Given the description of an element on the screen output the (x, y) to click on. 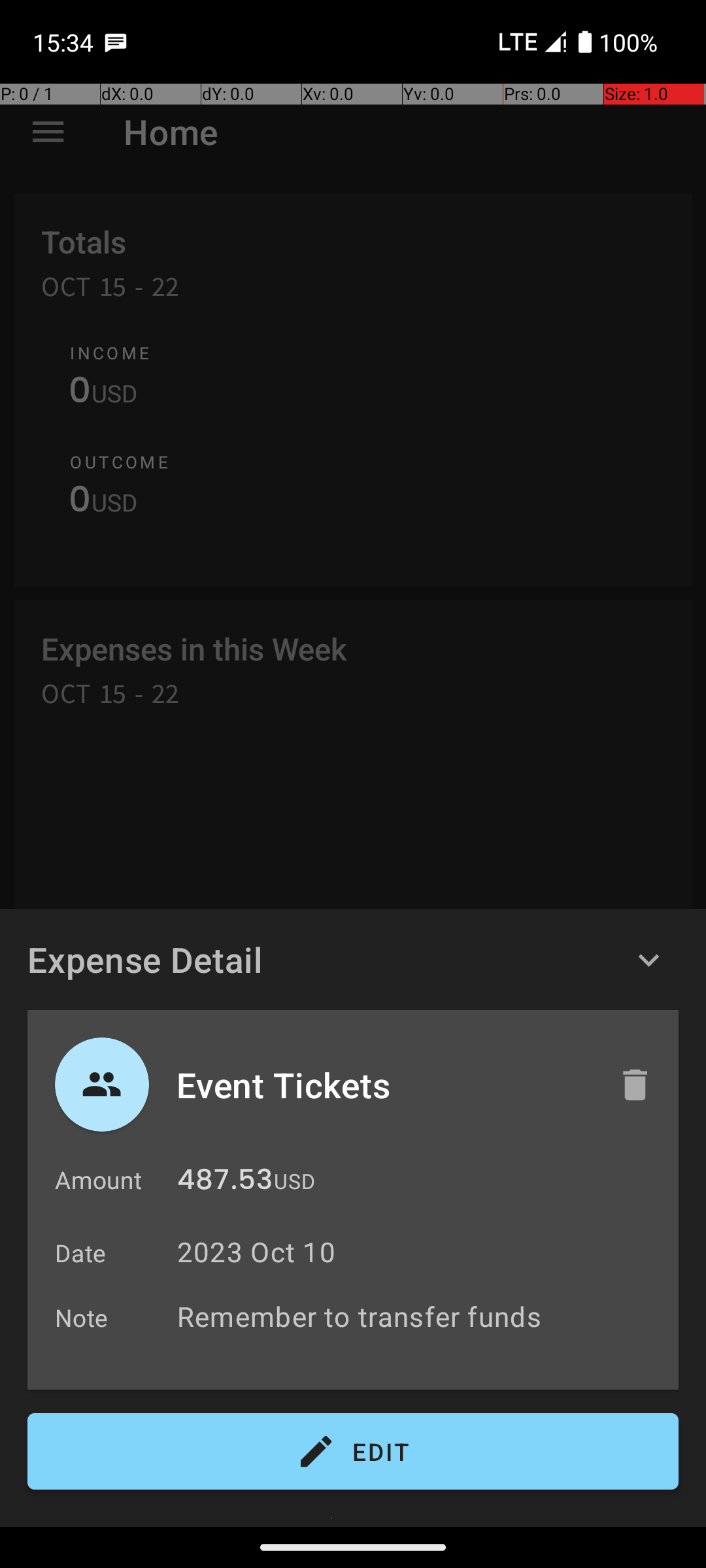
Event Tickets Element type: android.widget.TextView (383, 1084)
487.53 Element type: android.widget.TextView (224, 1182)
